Given the description of an element on the screen output the (x, y) to click on. 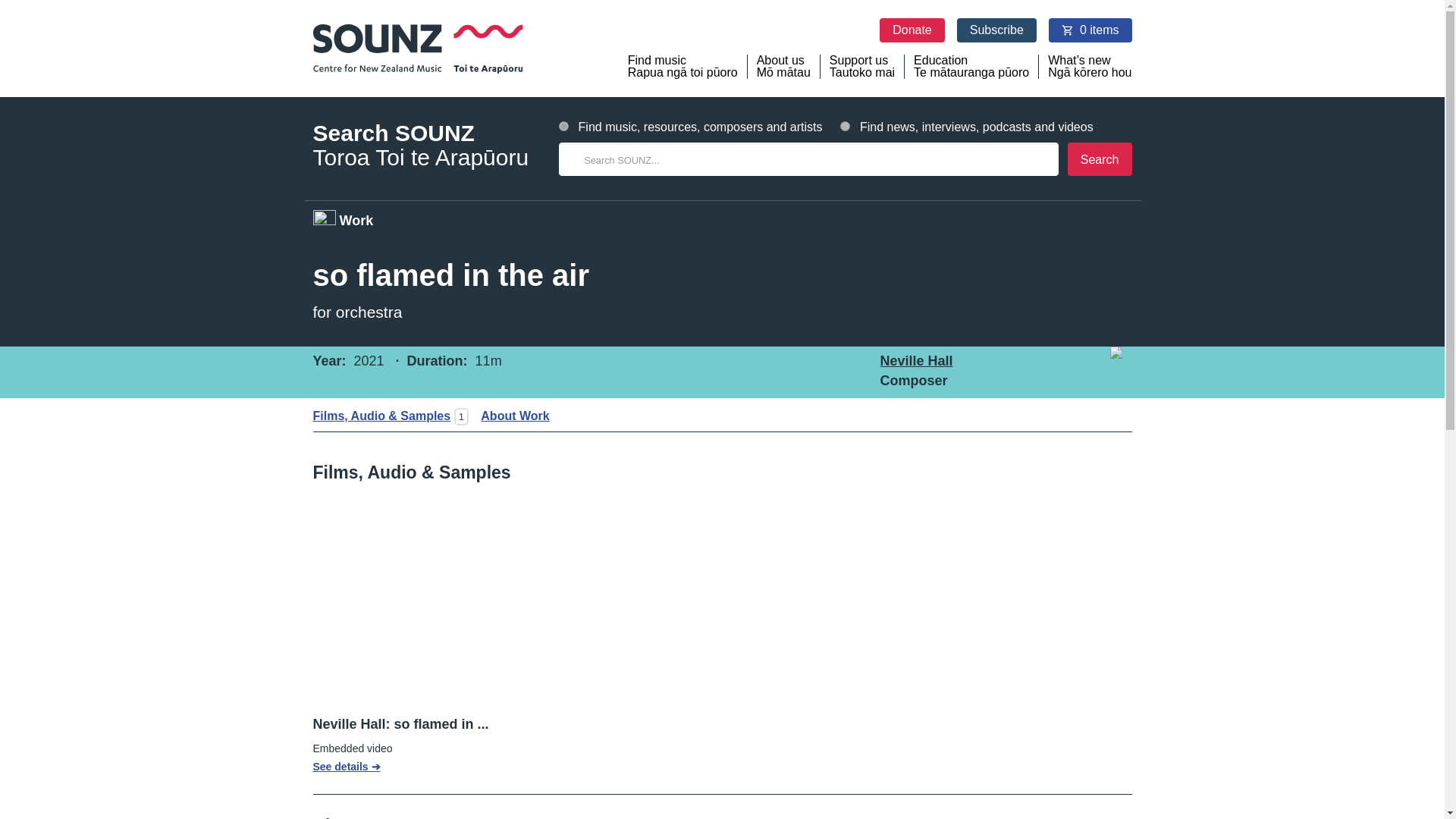
Share to Email (1115, 413)
YouTube video player (502, 594)
Neville Hall (862, 66)
content (915, 360)
Search (845, 126)
About Work (1099, 159)
catalogue (509, 415)
Donate (564, 126)
Subscribe (911, 30)
